Given the description of an element on the screen output the (x, y) to click on. 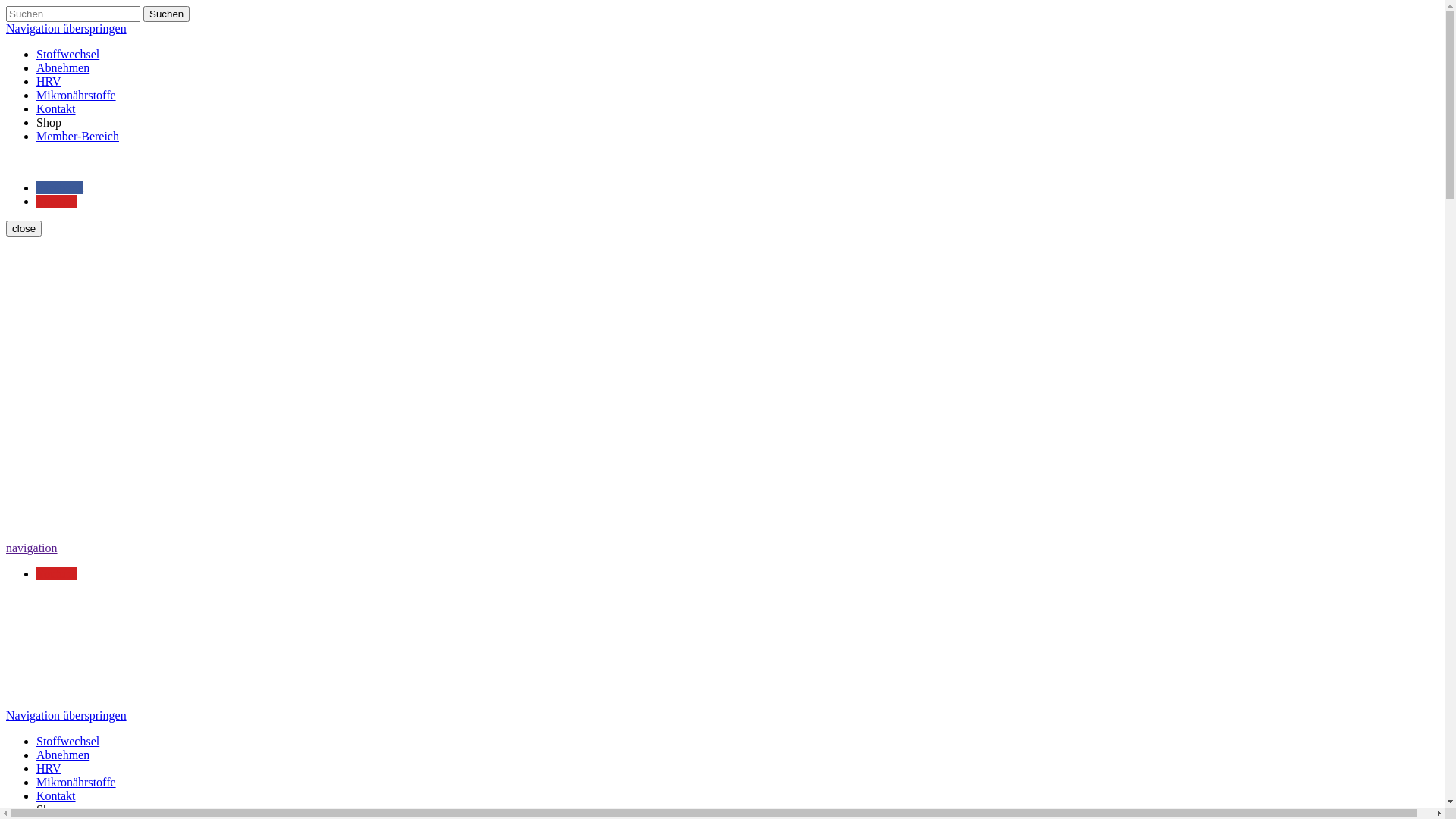
Abnehmen Element type: text (62, 67)
Abnehmen Element type: text (62, 754)
Stoffwechsel Element type: text (67, 740)
navigation Element type: text (31, 547)
close Element type: text (23, 228)
Suchen Element type: text (166, 13)
Kontakt Element type: text (55, 108)
Kontakt Element type: text (55, 795)
Stoffwechsel Element type: text (67, 53)
Facebook Element type: text (59, 187)
  Element type: text (7, 161)
Youtube Element type: text (56, 200)
HRV Element type: text (48, 768)
Member-Bereich Element type: text (77, 135)
Youtube Element type: text (56, 573)
HRV Element type: text (48, 81)
